Given the description of an element on the screen output the (x, y) to click on. 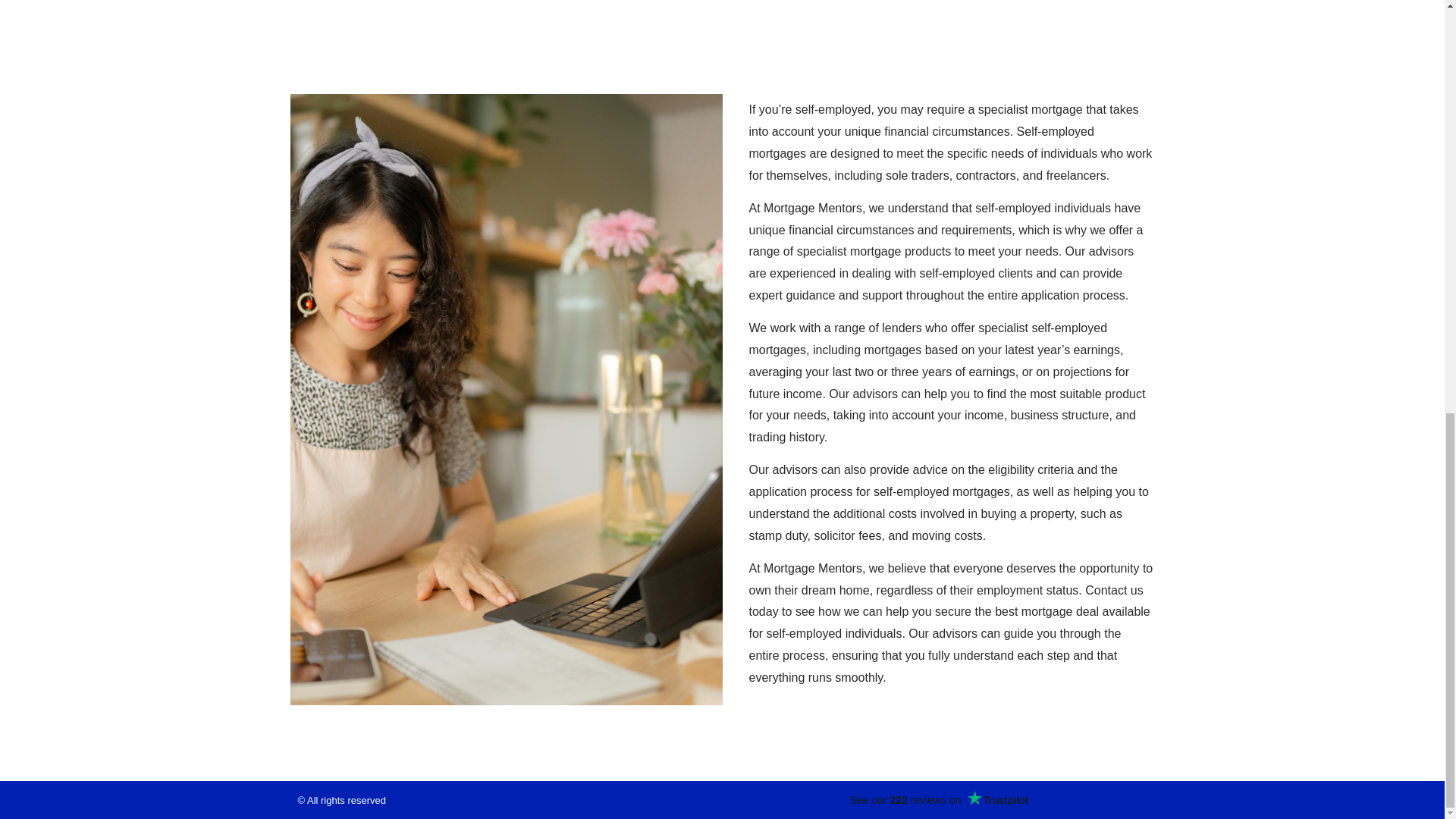
Customer reviews powered by Trustpilot (938, 800)
